Given the description of an element on the screen output the (x, y) to click on. 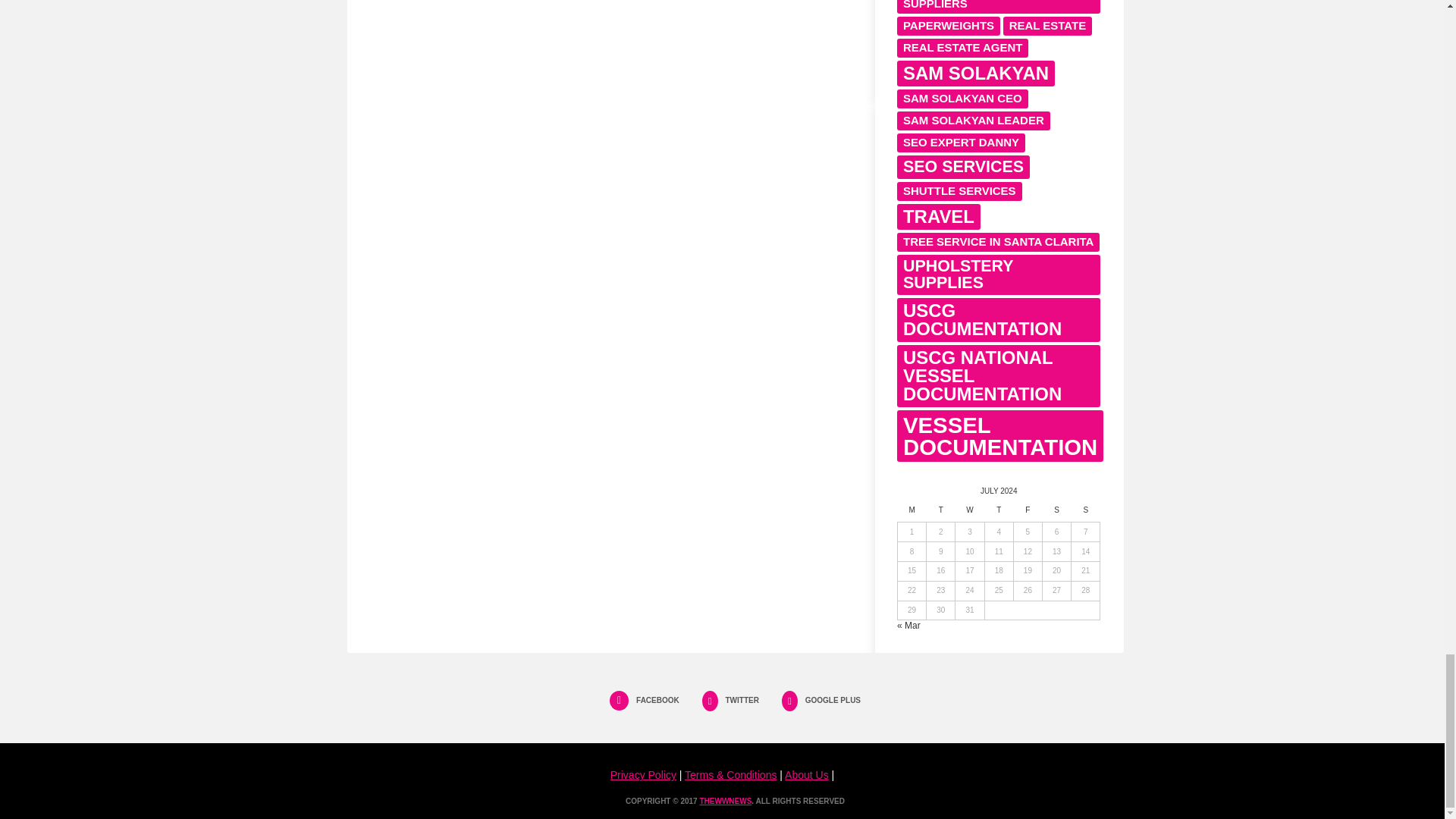
Monday (911, 514)
Thursday (998, 514)
Friday (1027, 514)
Saturday (1056, 514)
Wednesday (969, 514)
Sunday (1085, 514)
Tuesday (940, 514)
